Given the description of an element on the screen output the (x, y) to click on. 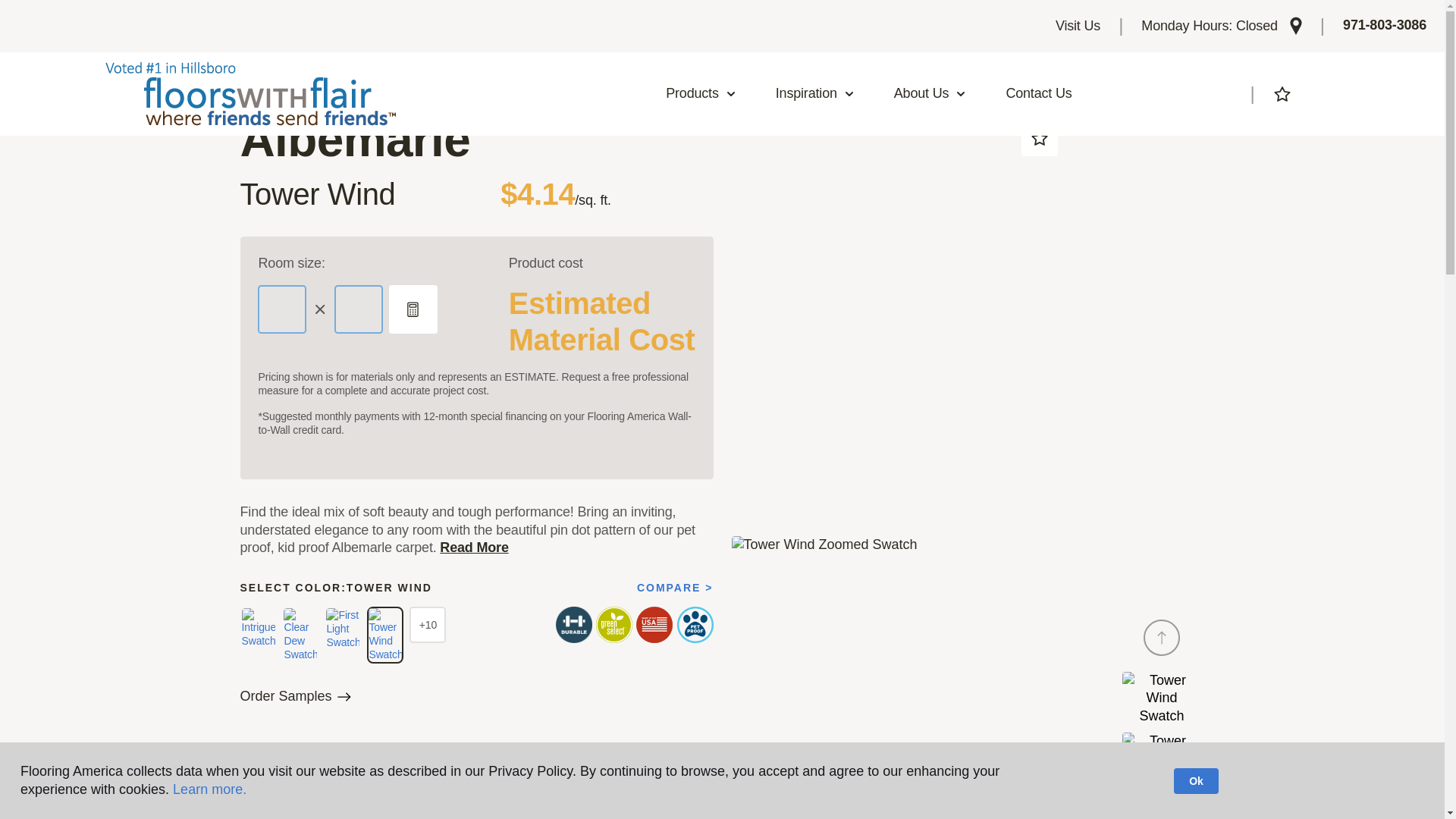
971-803-3086 (1384, 25)
Products (700, 94)
About Us (930, 94)
Contact Us (1038, 94)
Inspiration (815, 94)
Visit Us (1077, 26)
